Given the description of an element on the screen output the (x, y) to click on. 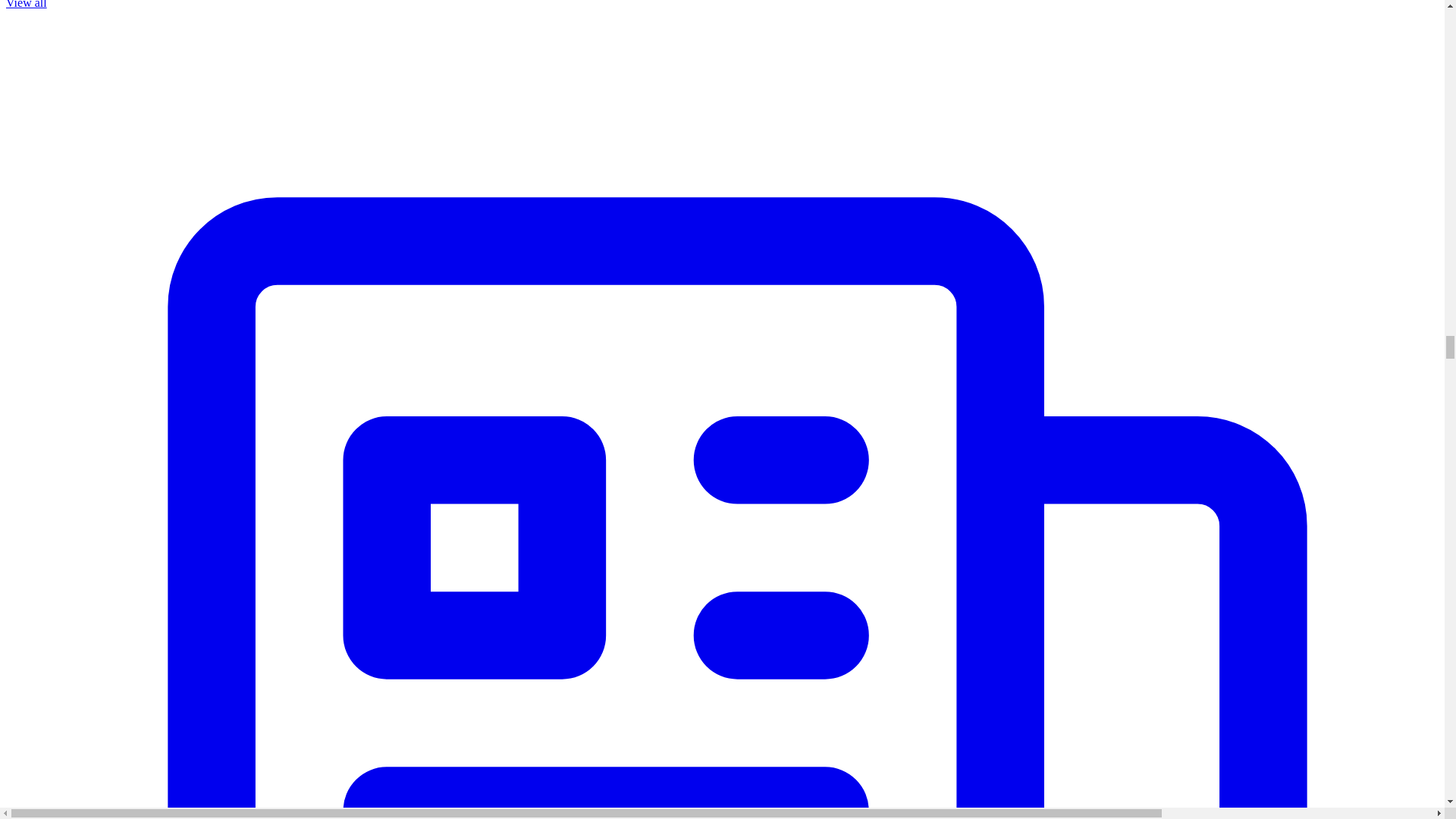
View all (25, 4)
